Given the description of an element on the screen output the (x, y) to click on. 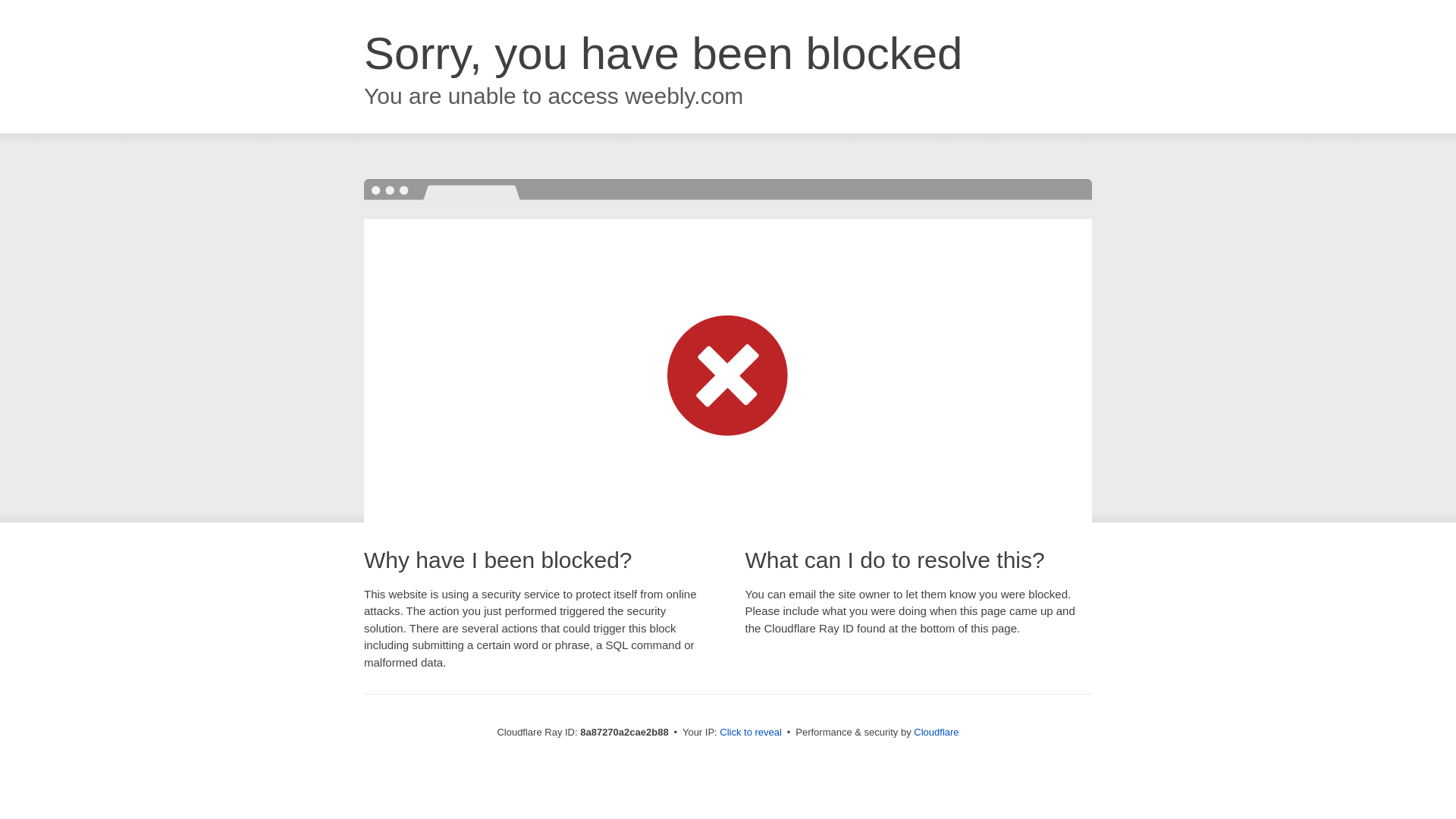
Cloudflare (936, 731)
Click to reveal (750, 732)
